Given the description of an element on the screen output the (x, y) to click on. 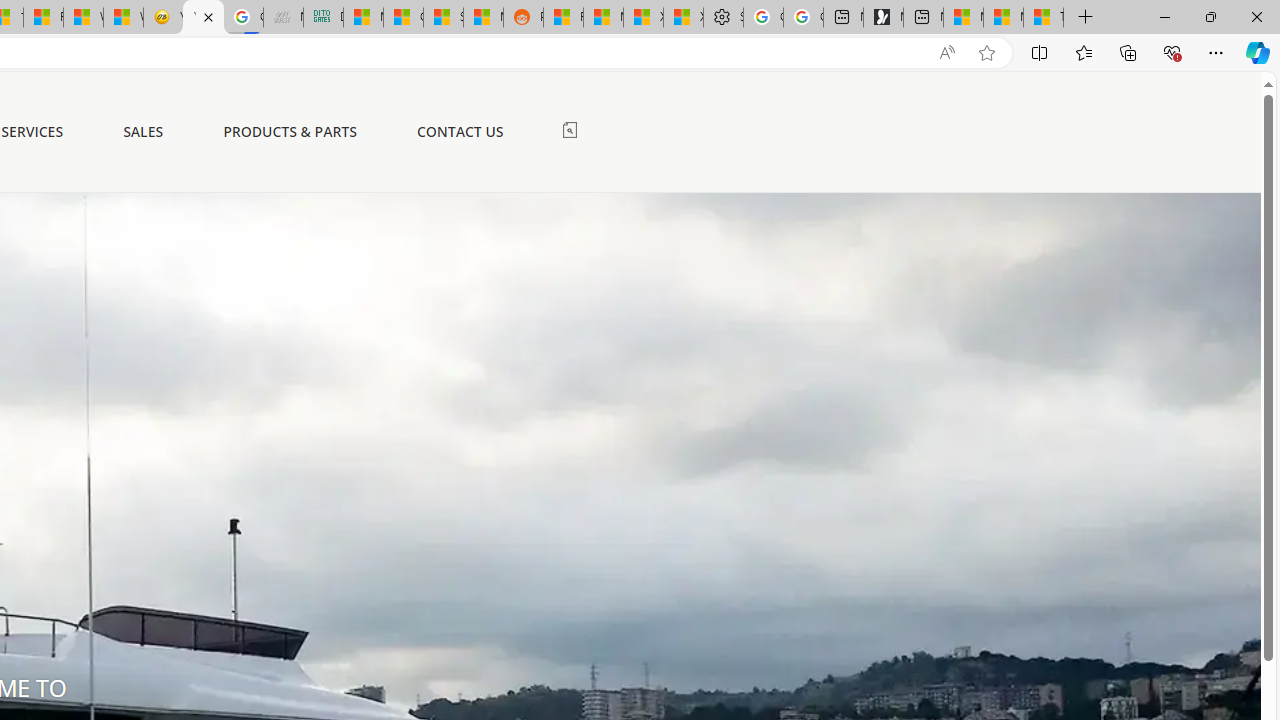
SALES (143, 132)
These 3 Stocks Pay You More Than 5% to Own Them (1043, 17)
PRODUCTS & PARTS (289, 132)
